Given the description of an element on the screen output the (x, y) to click on. 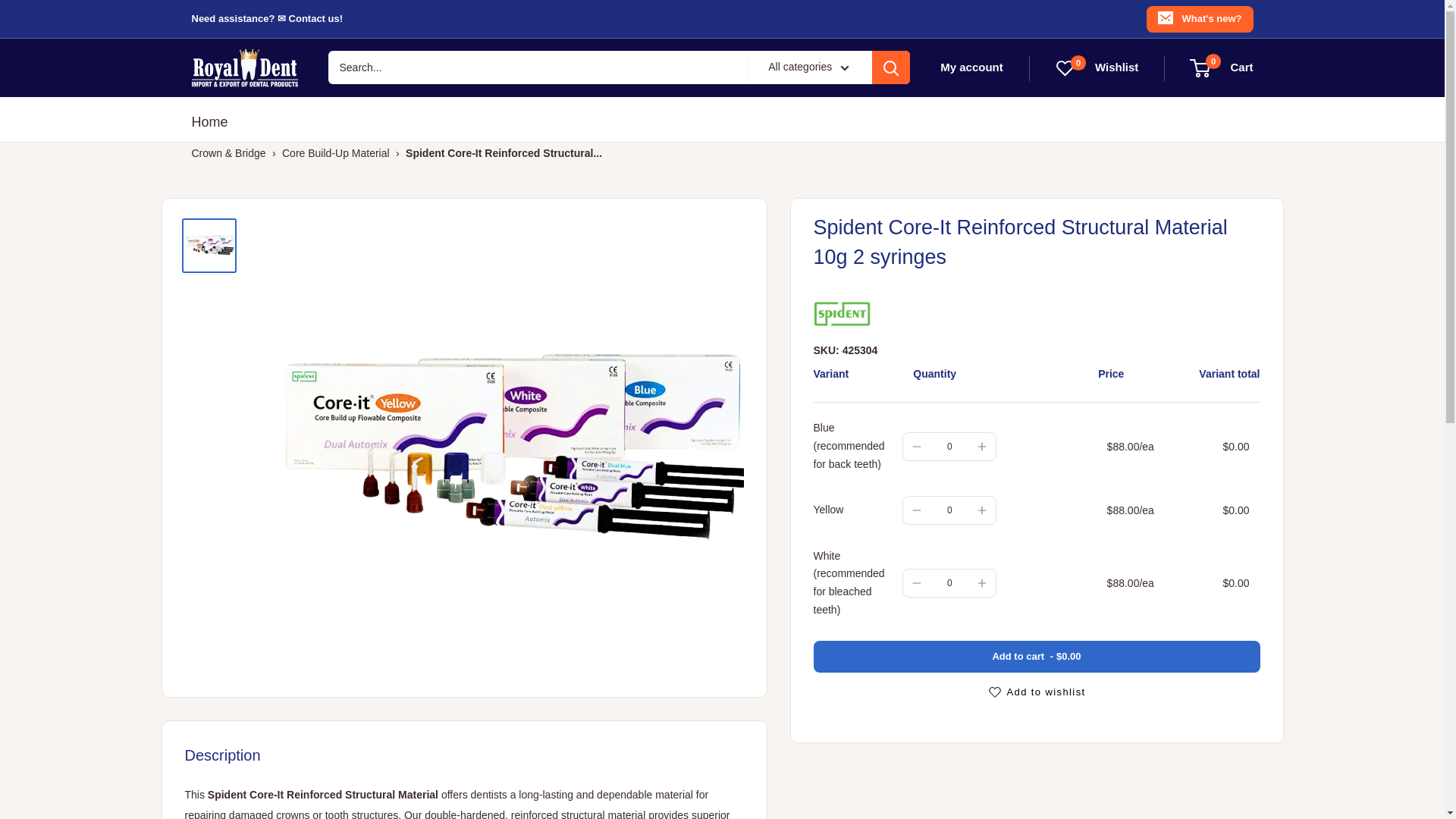
Core Build-Up Material (336, 152)
RoyalDent Shop (243, 67)
Increase quantity for Yellow (981, 510)
My account (971, 66)
Decrease quantity for Yellow (916, 510)
0 (949, 583)
What's new? (1200, 18)
0 (949, 510)
0 (1221, 66)
